Given the description of an element on the screen output the (x, y) to click on. 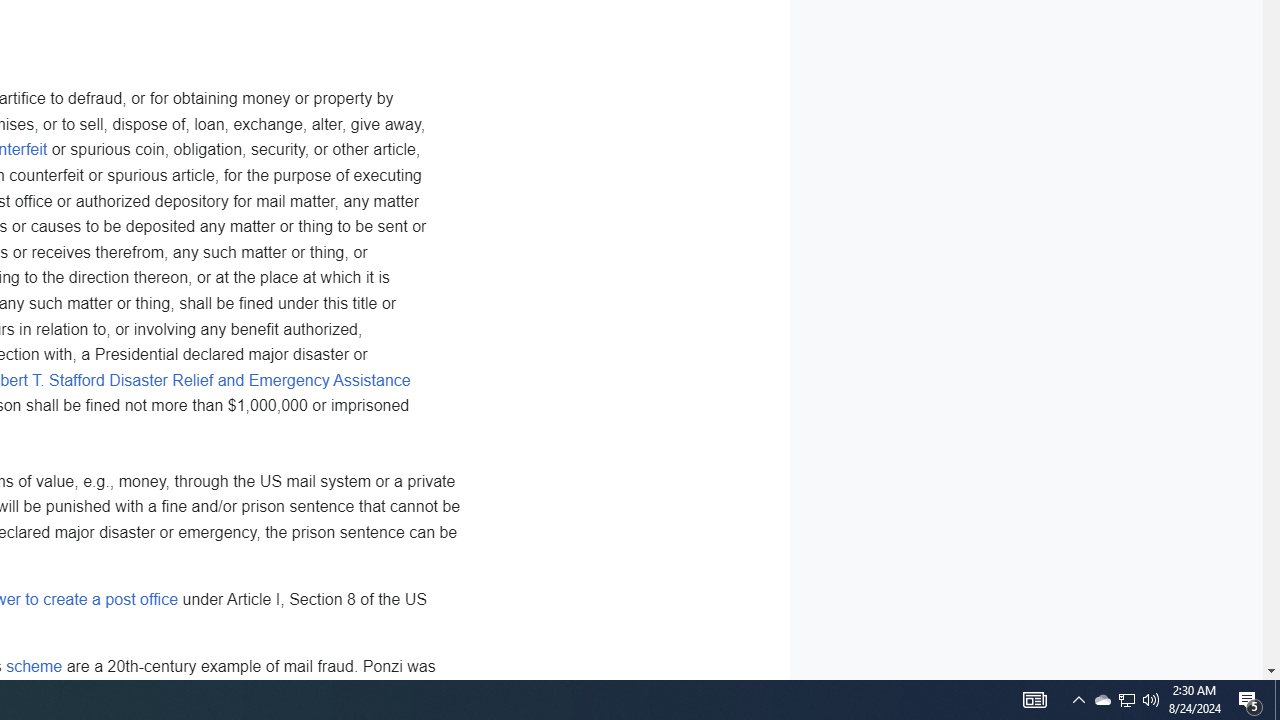
scheme (34, 667)
